Given the description of an element on the screen output the (x, y) to click on. 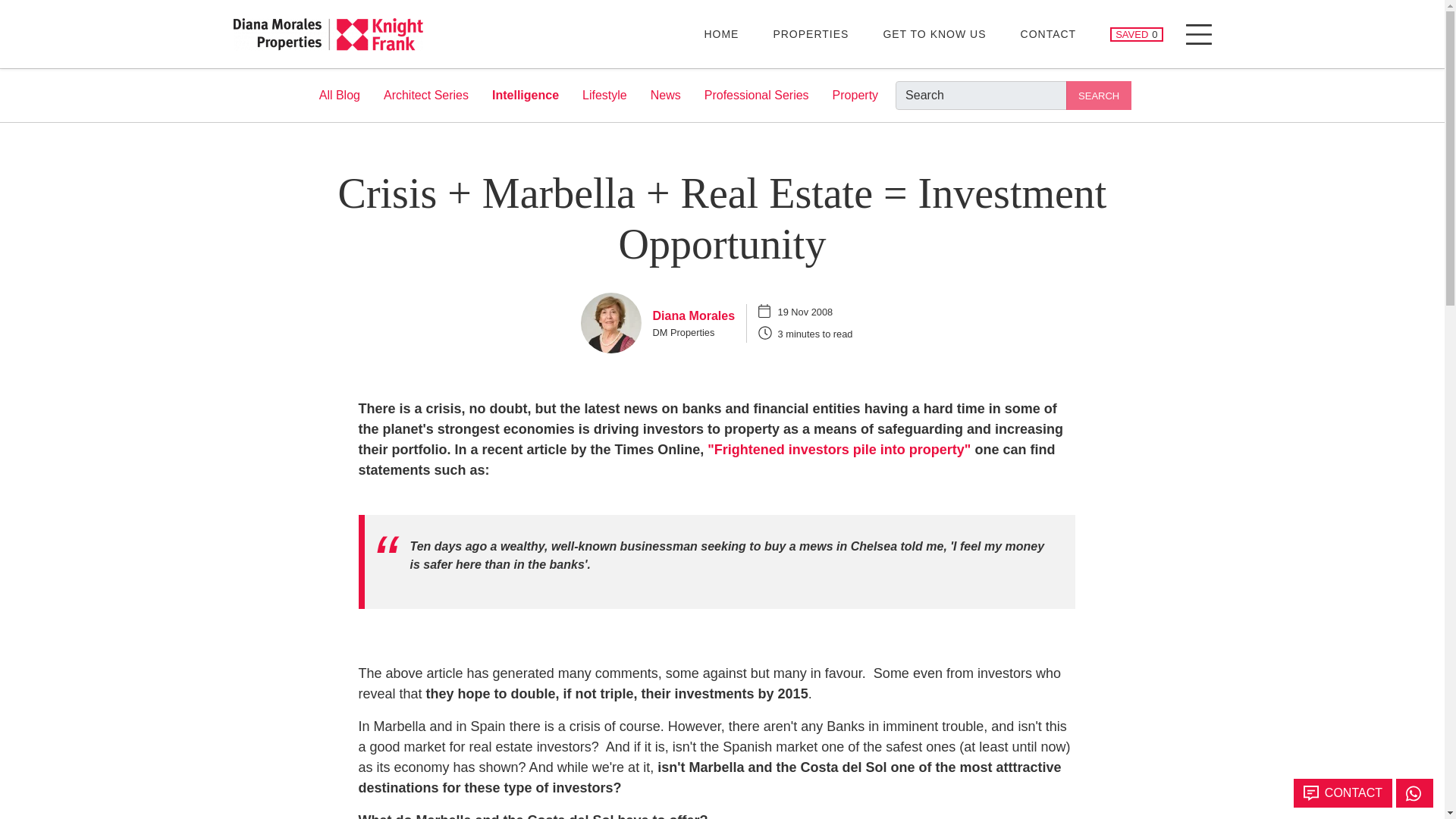
Professional Series (1135, 34)
Lifestyle (756, 95)
News (604, 95)
GET TO KNOW US (666, 95)
All Blog (933, 33)
SEARCH (339, 95)
The Marbella Property Blog (1098, 95)
HOME (339, 95)
PROPERTIES (720, 33)
